Given the description of an element on the screen output the (x, y) to click on. 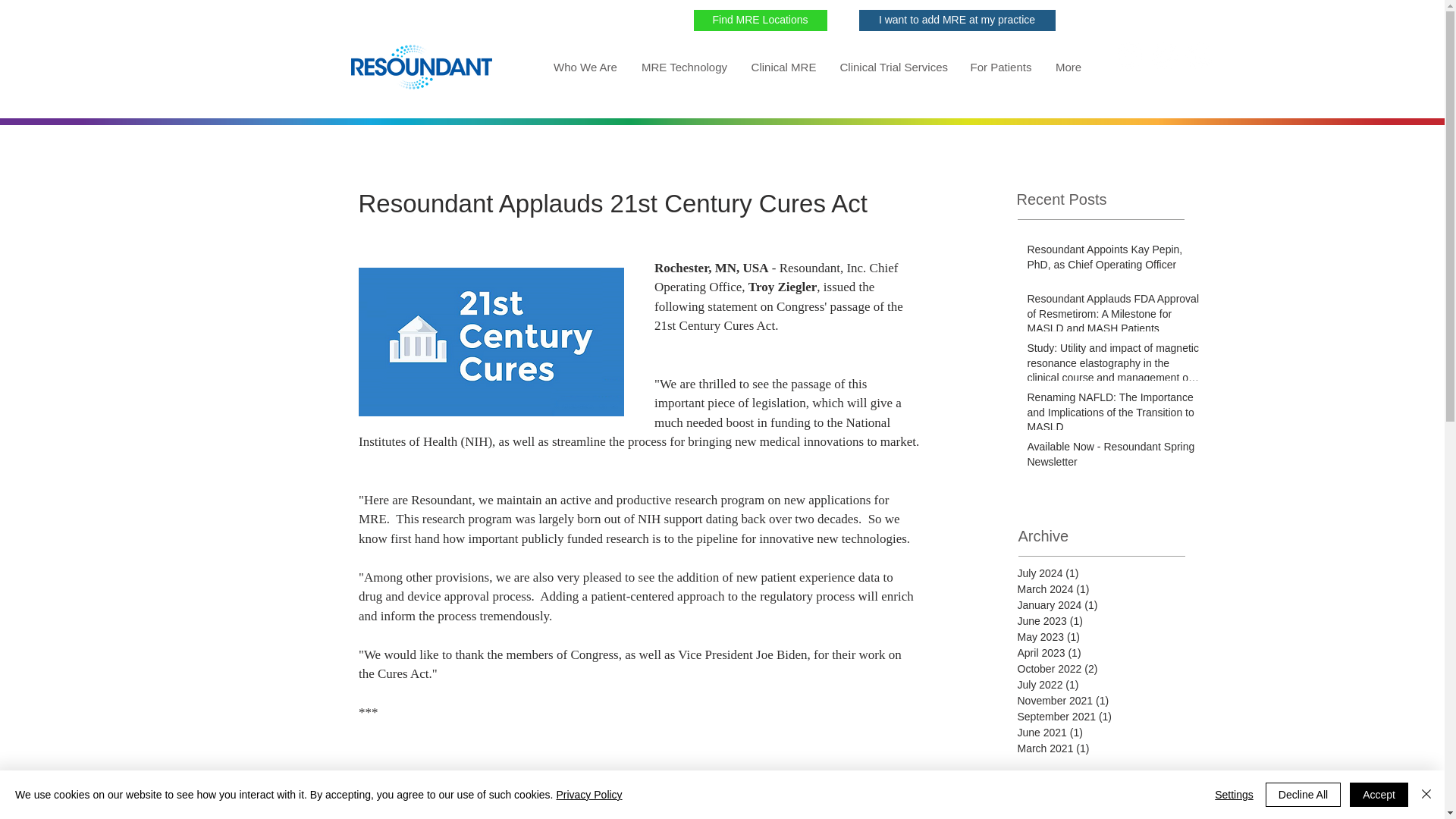
MRE Technology (683, 67)
Clinical Trial Services (893, 67)
Clinical MRE (783, 67)
I want to add MRE at my practice (956, 20)
For Patients (1000, 67)
Available Now - Resoundant Spring Newsletter (1113, 457)
Who We Are (585, 67)
Find MRE Locations (760, 20)
